Given the description of an element on the screen output the (x, y) to click on. 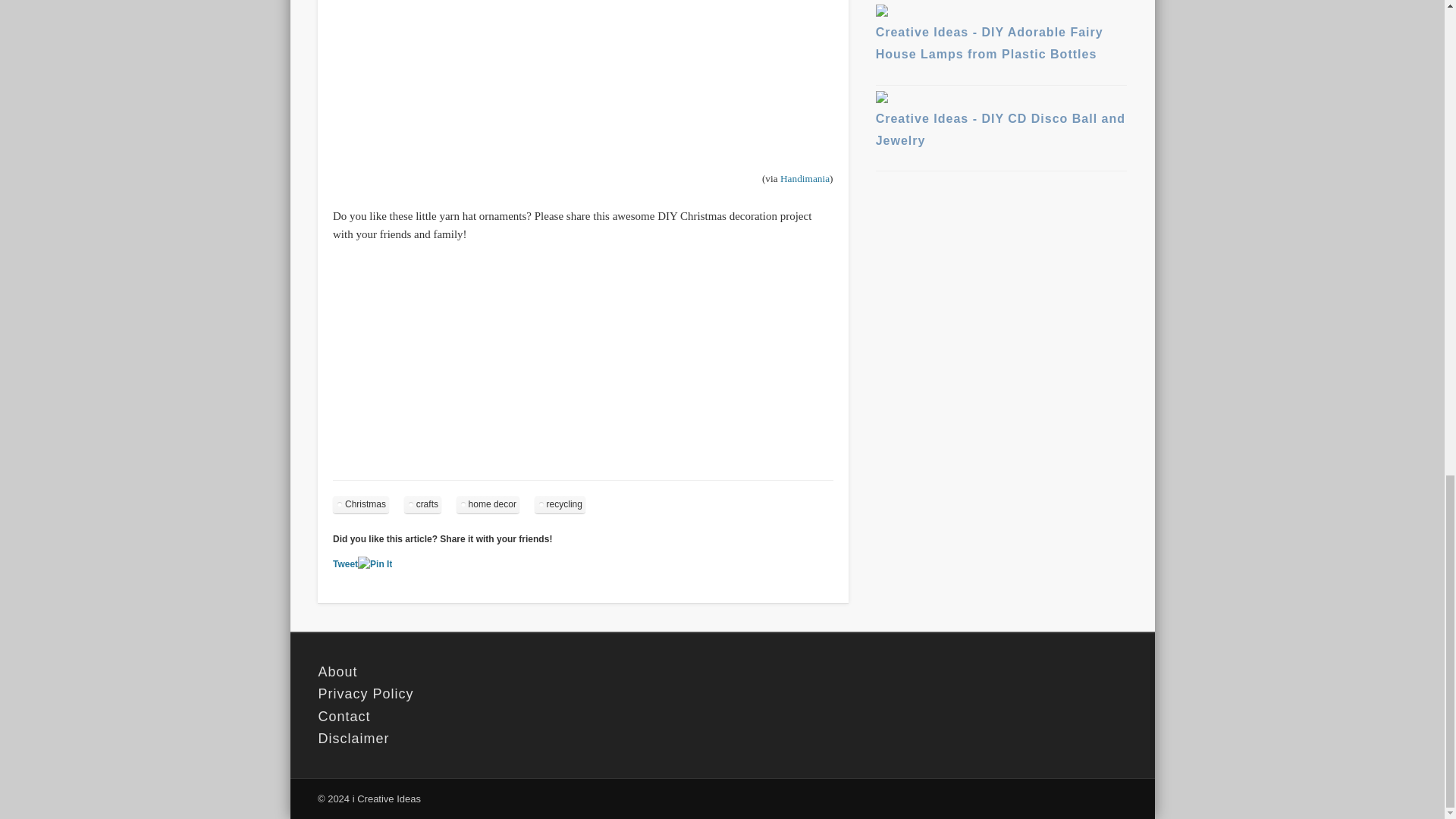
Tweet (345, 563)
Christmas (360, 504)
Pin It (374, 564)
About (511, 671)
Creative Ideas - DIY CD Disco Ball and Jewelry (1001, 122)
home decor (488, 504)
crafts (422, 504)
Contact (511, 716)
Handimania (804, 178)
